Given the description of an element on the screen output the (x, y) to click on. 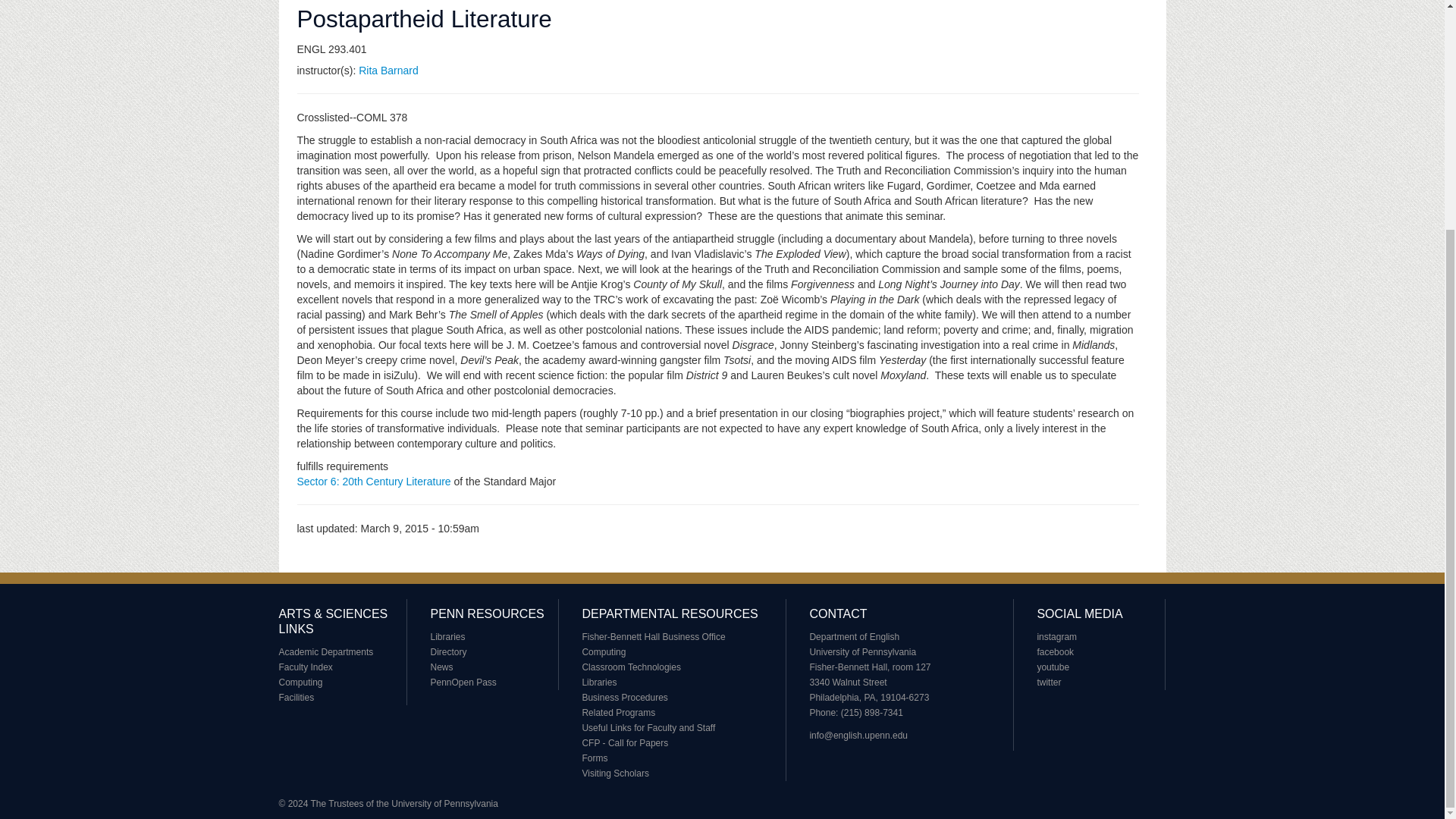
PennOpen Pass (462, 682)
Computing (603, 652)
Directory (447, 652)
Libraries (446, 636)
Fisher-Bennett Hall Business Office (652, 636)
Computing (301, 682)
Libraries (597, 682)
Faculty Index (306, 666)
Rita Barnard (388, 70)
Facilities (296, 697)
